Given the description of an element on the screen output the (x, y) to click on. 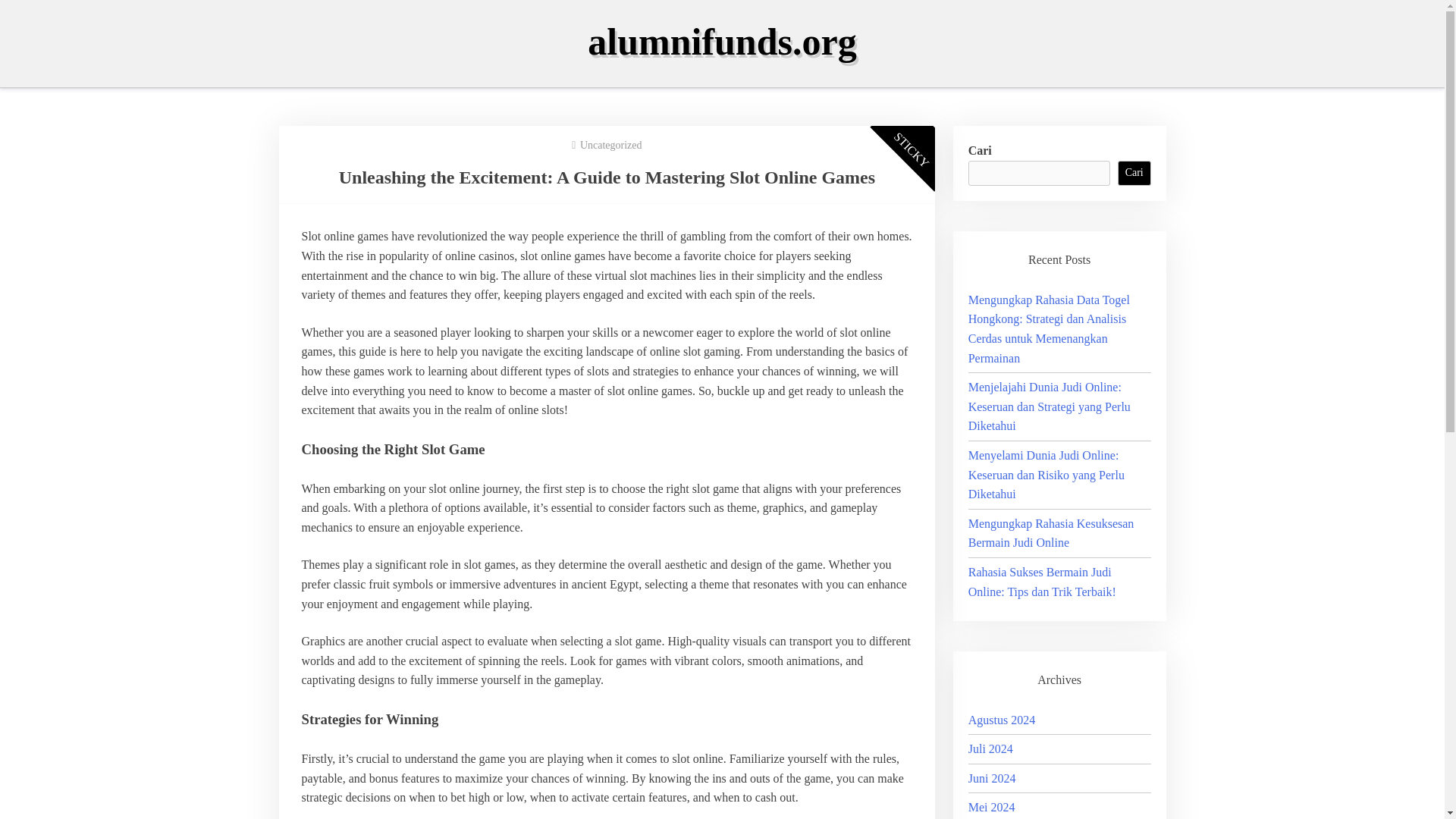
Mei 2024 (991, 807)
Mengungkap Rahasia Kesuksesan Bermain Judi Online (1051, 532)
Uncategorized (610, 144)
Juli 2024 (990, 748)
alumnifunds.org (722, 41)
Juni 2024 (992, 778)
Cari (1134, 173)
Rahasia Sukses Bermain Judi Online: Tips dan Trik Terbaik! (1042, 581)
Agustus 2024 (1001, 719)
